Given the description of an element on the screen output the (x, y) to click on. 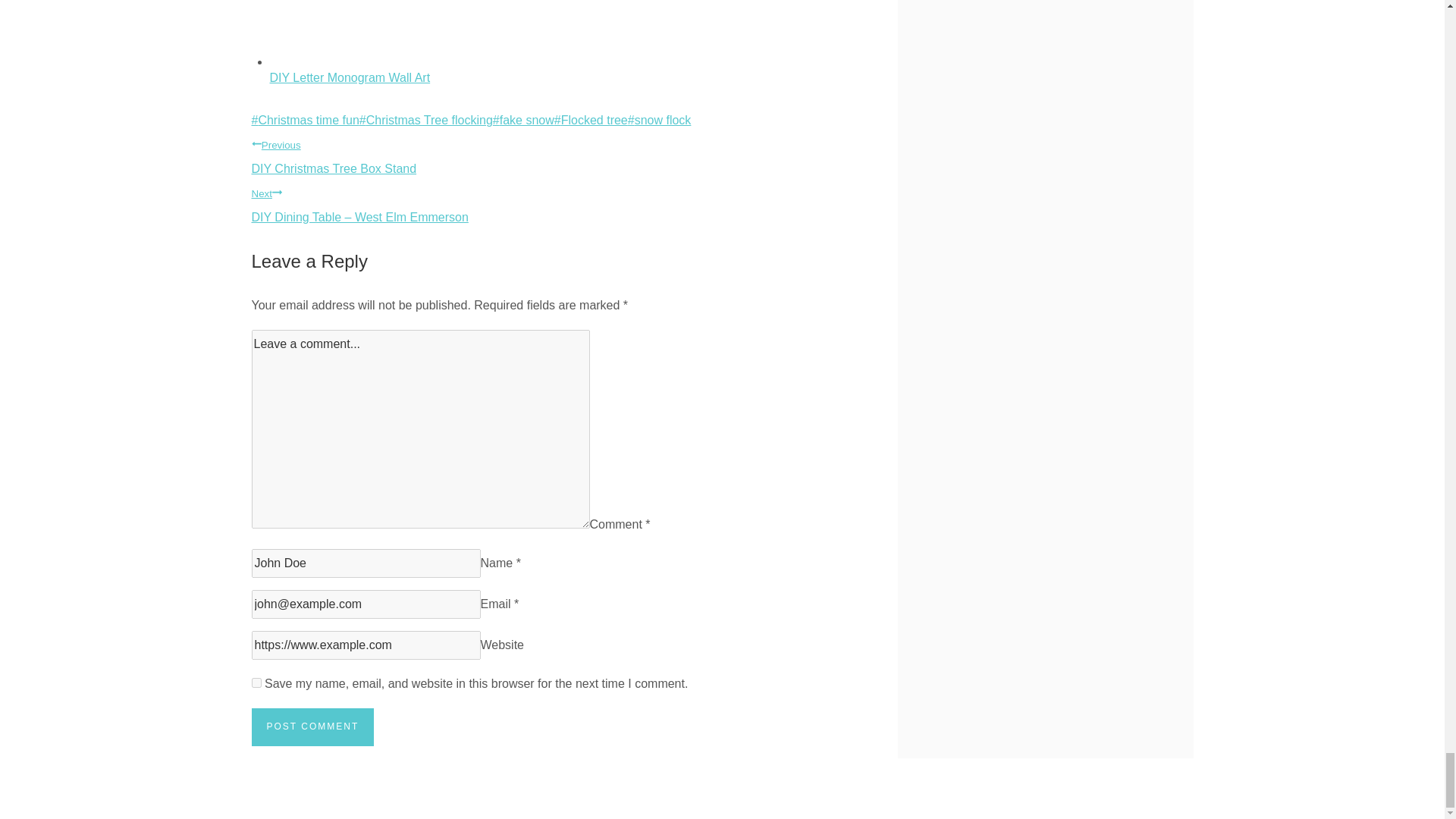
Christmas Tree flocking (426, 119)
yes (256, 682)
Post Comment (312, 726)
Flocked tree (590, 119)
fake snow (523, 119)
Christmas time fun (305, 119)
snow flock (659, 119)
